Given the description of an element on the screen output the (x, y) to click on. 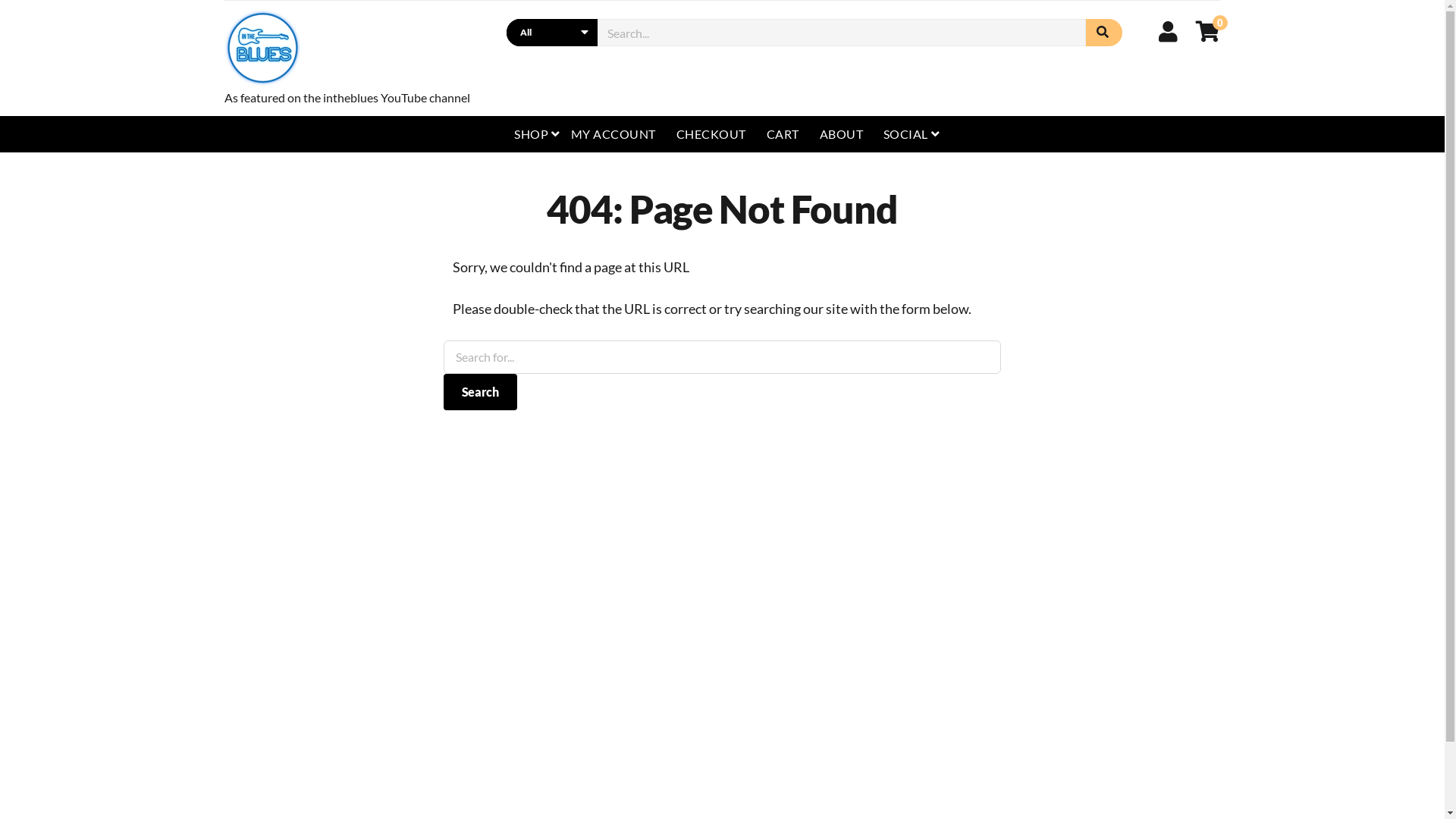
SOCIAL Element type: text (911, 134)
ABOUT Element type: text (841, 134)
Search Element type: text (480, 391)
Visit your account Element type: hover (1167, 30)
open menu Element type: text (555, 134)
MY ACCOUNT Element type: text (613, 134)
CART Element type: text (782, 134)
Search for: Element type: hover (722, 356)
Search for: Element type: hover (841, 32)
0 Element type: text (1207, 30)
CHECKOUT Element type: text (711, 134)
SHOP Element type: text (537, 134)
open menu Element type: text (935, 134)
Search Element type: text (1103, 32)
